Given the description of an element on the screen output the (x, y) to click on. 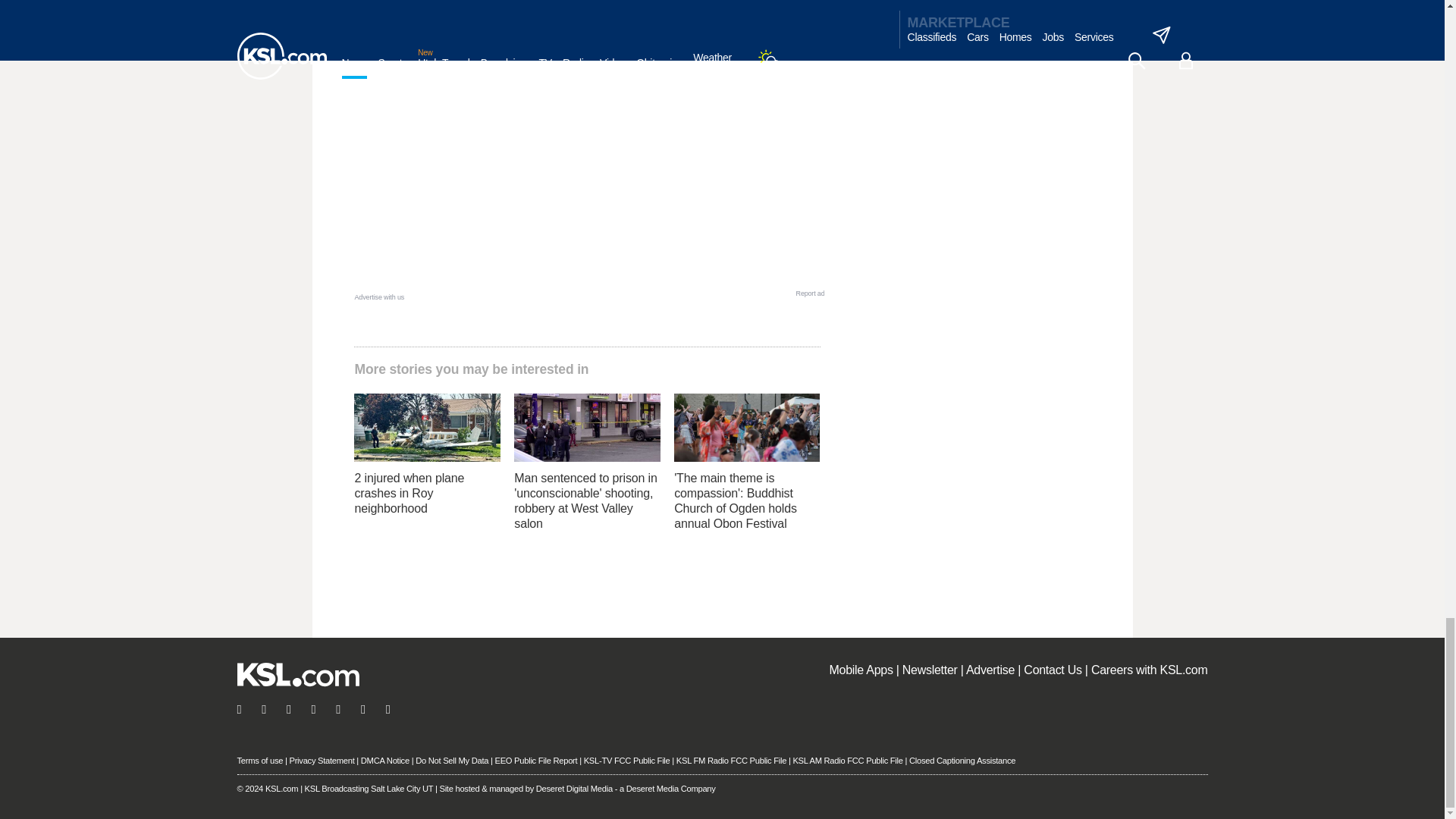
3rd party ad content (588, 173)
